Given the description of an element on the screen output the (x, y) to click on. 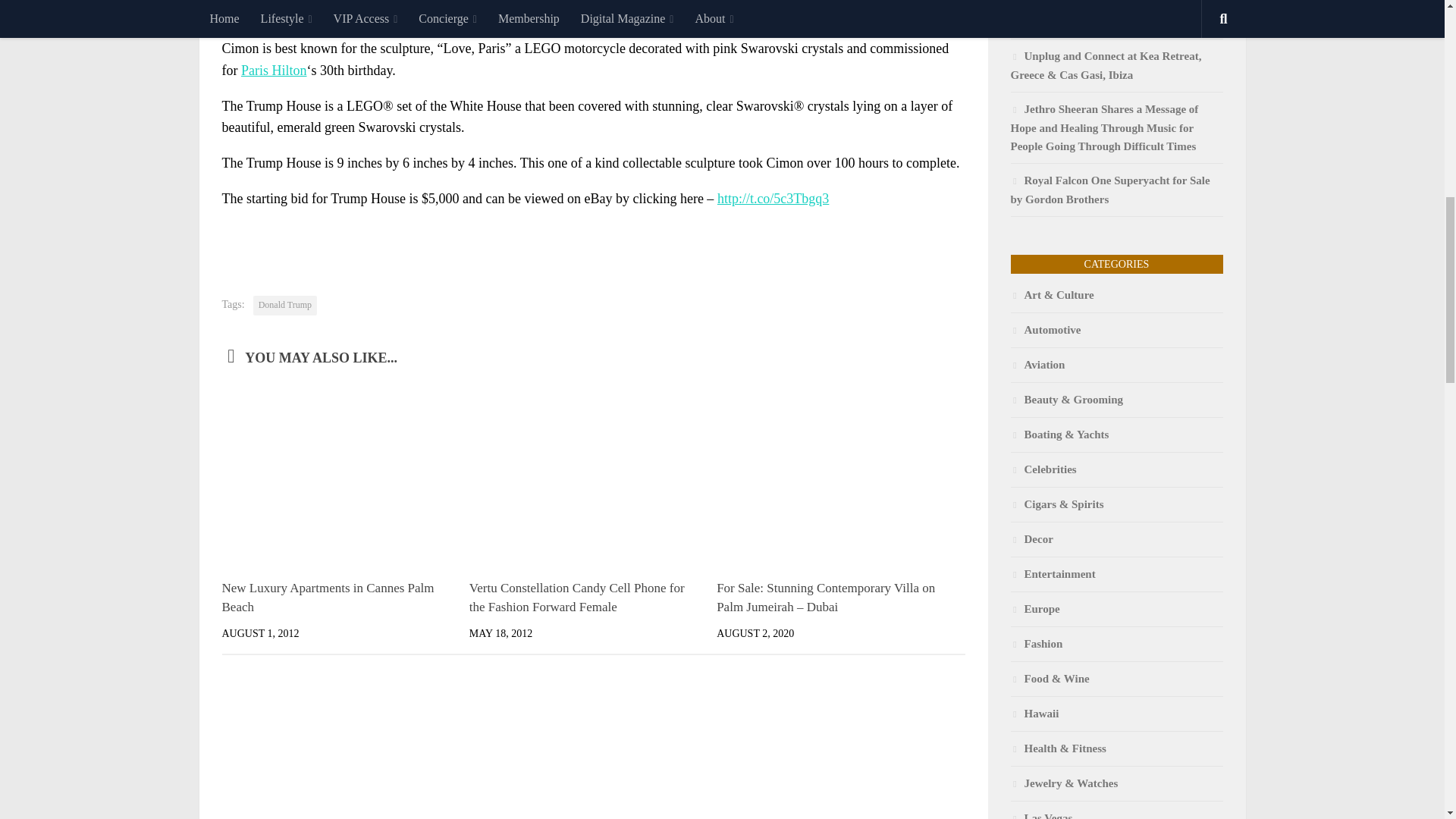
Paris Hilton (274, 70)
Print Content (953, 239)
